Given the description of an element on the screen output the (x, y) to click on. 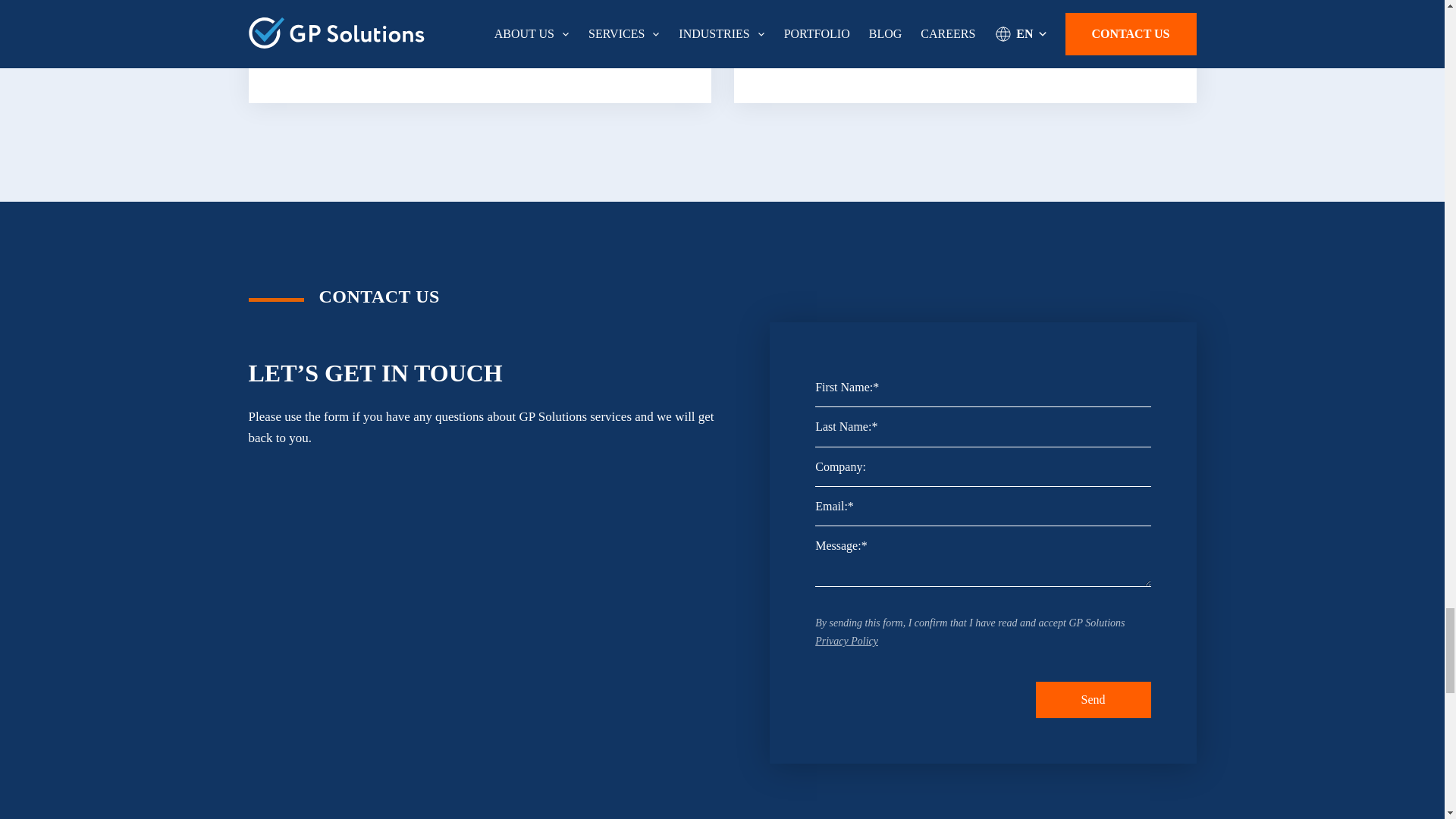
Send (1093, 699)
